Given the description of an element on the screen output the (x, y) to click on. 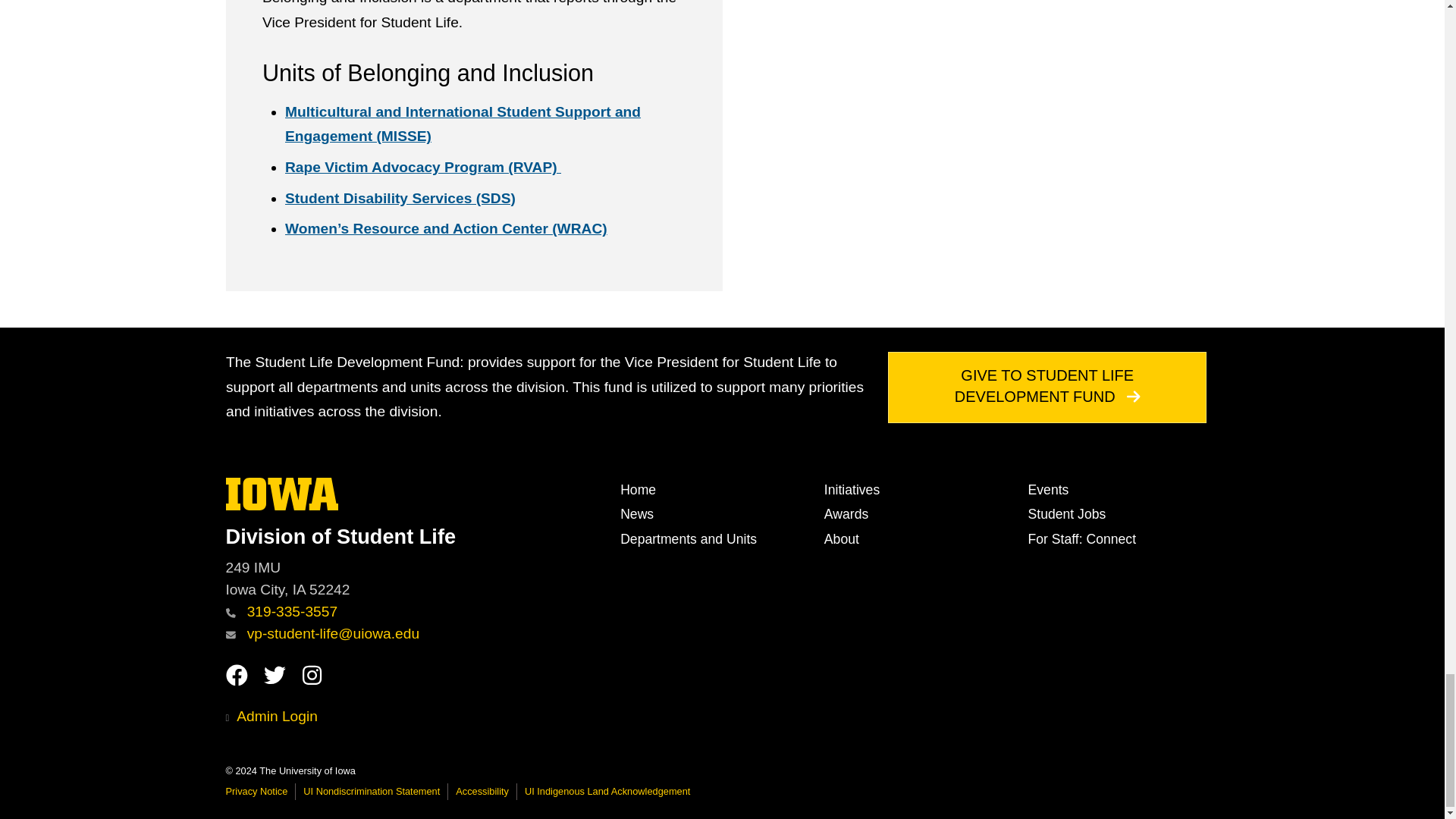
University of Iowa (282, 493)
